Given the description of an element on the screen output the (x, y) to click on. 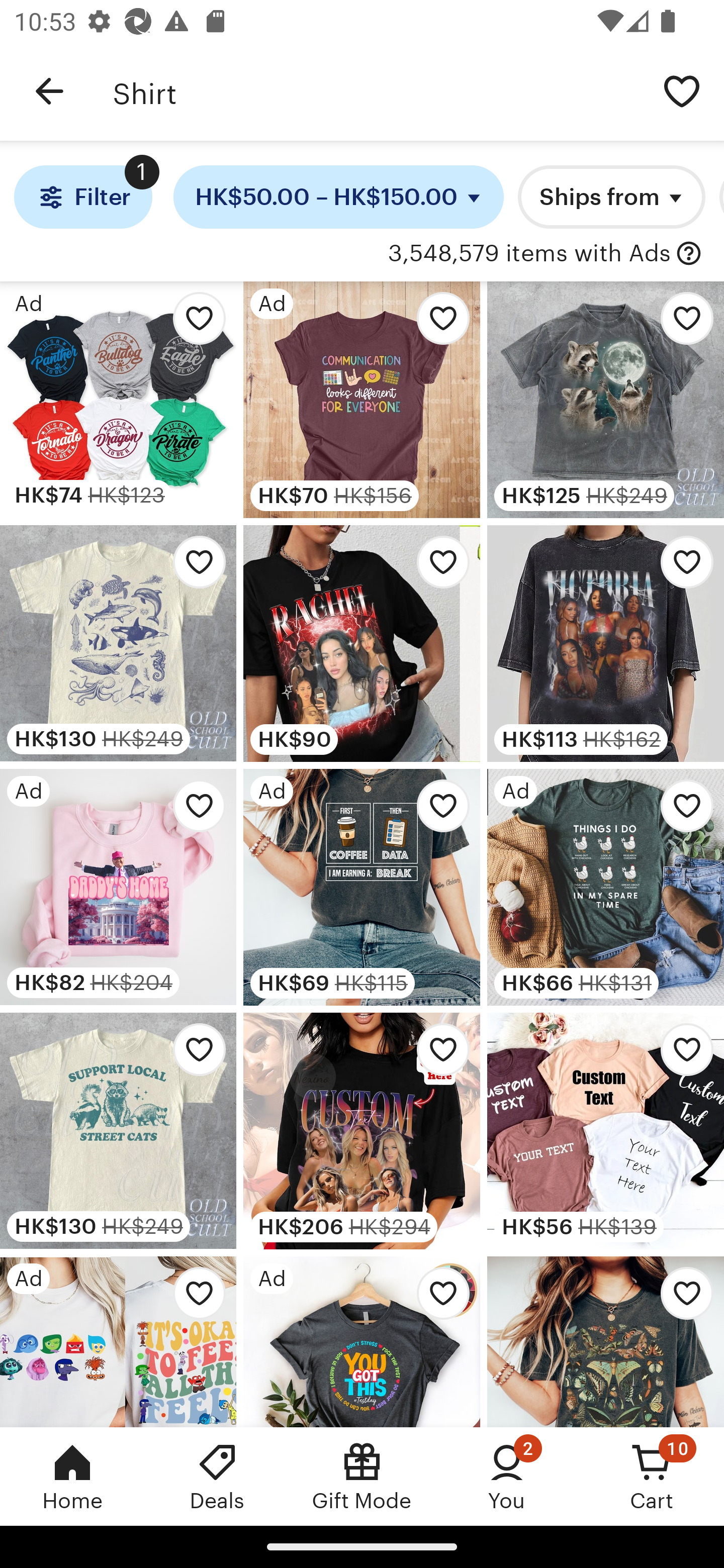
Navigate up (49, 91)
Save search (681, 90)
Shirt (375, 91)
Filter (82, 197)
HK$50.00 – HK$150.00 (338, 197)
Ships from (611, 197)
3,548,579 items with Ads (529, 253)
with Ads (688, 253)
Deals (216, 1475)
Gift Mode (361, 1475)
You, 2 new notifications You (506, 1475)
Cart, 10 new notifications Cart (651, 1475)
